Given the description of an element on the screen output the (x, y) to click on. 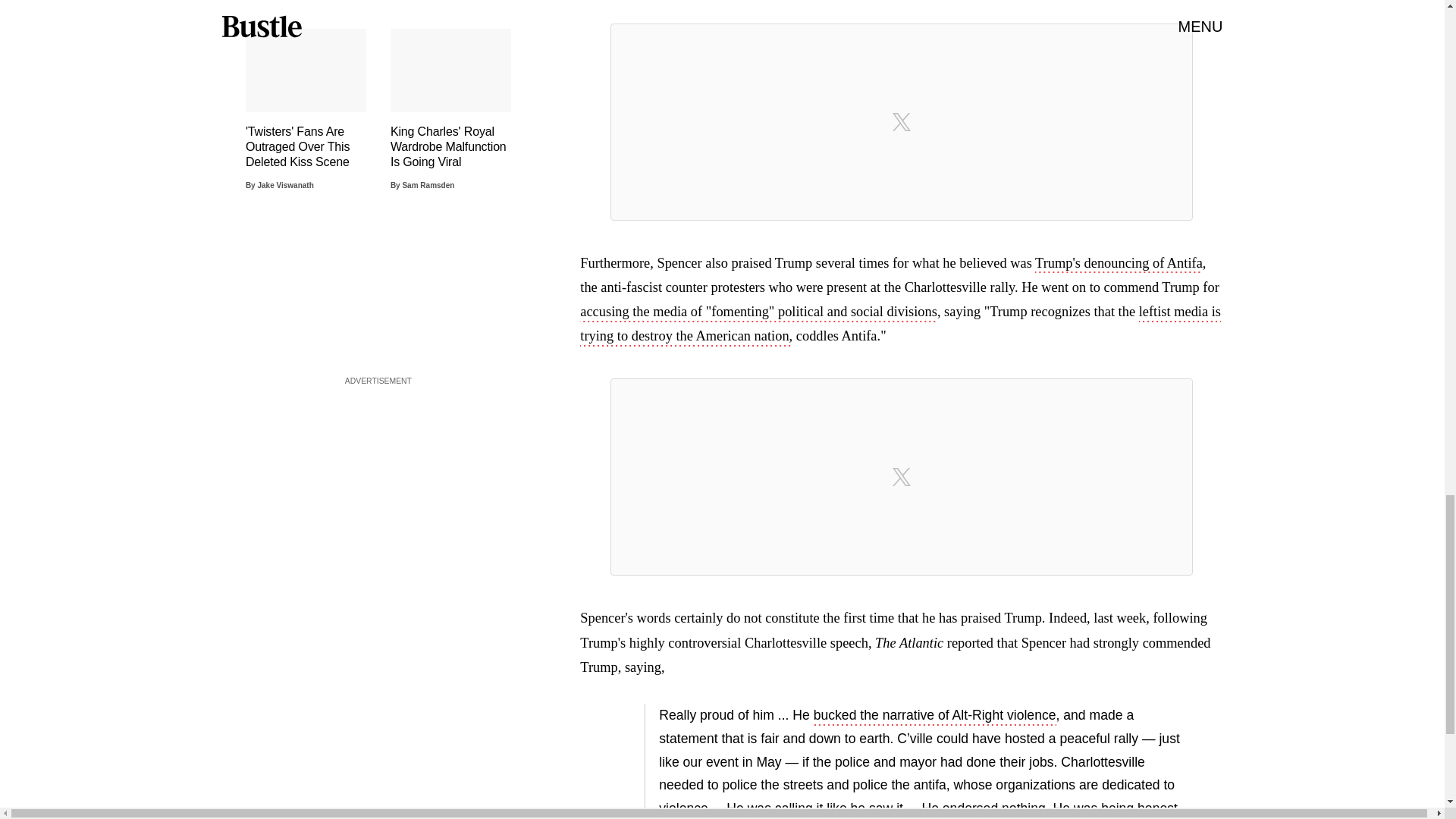
Trump's denouncing of Antifa (1118, 264)
bucked the narrative of Alt-Right violence (935, 716)
leftist media is trying to destroy the American nation, (900, 324)
